Given the description of an element on the screen output the (x, y) to click on. 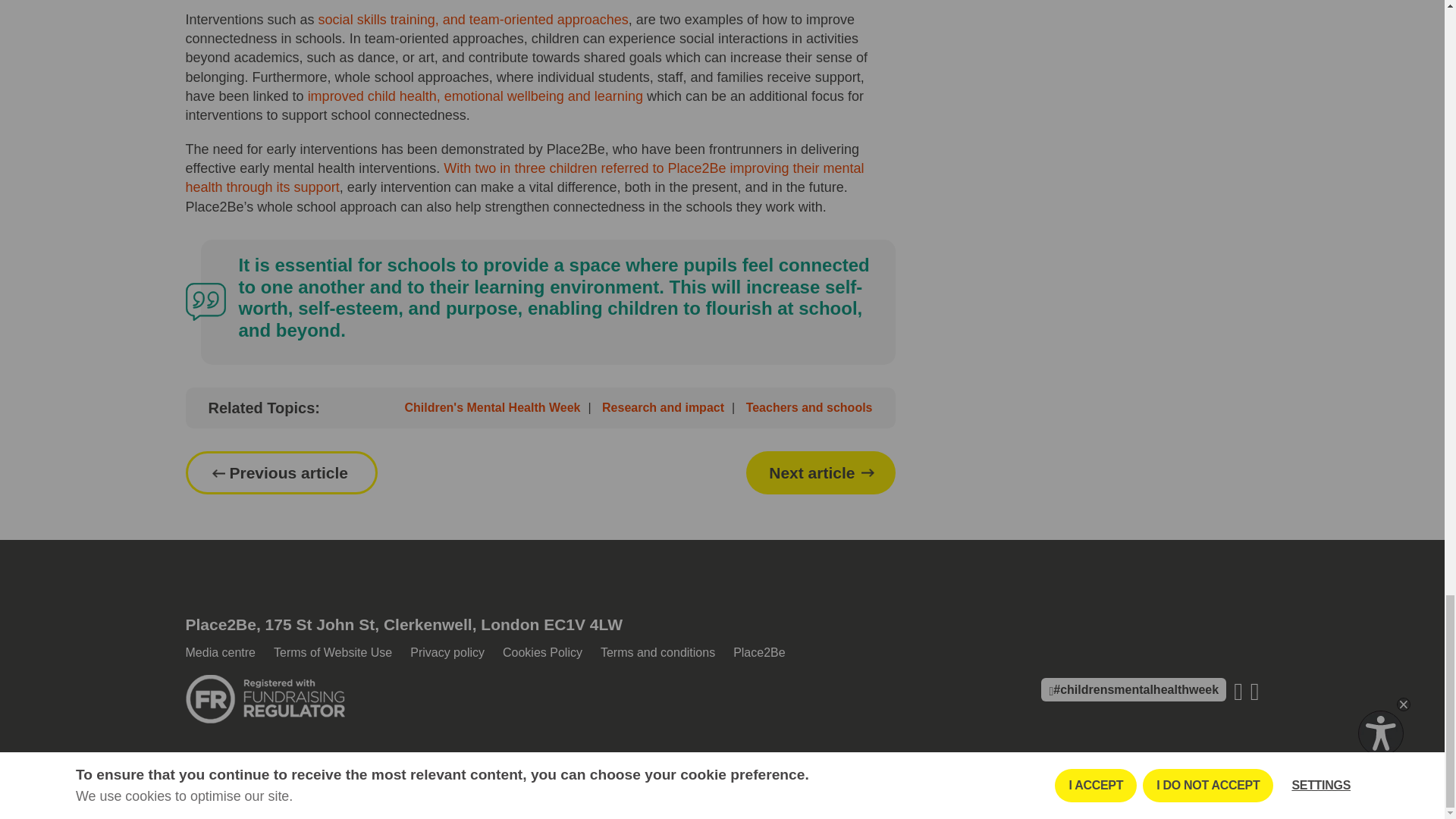
Terms of Website Use (332, 652)
Cookies Policy (542, 652)
Place2Be (759, 652)
The case for early intervention (523, 177)
Privacy policy (447, 652)
Media centre (220, 652)
Terms and conditions (656, 652)
